Given the description of an element on the screen output the (x, y) to click on. 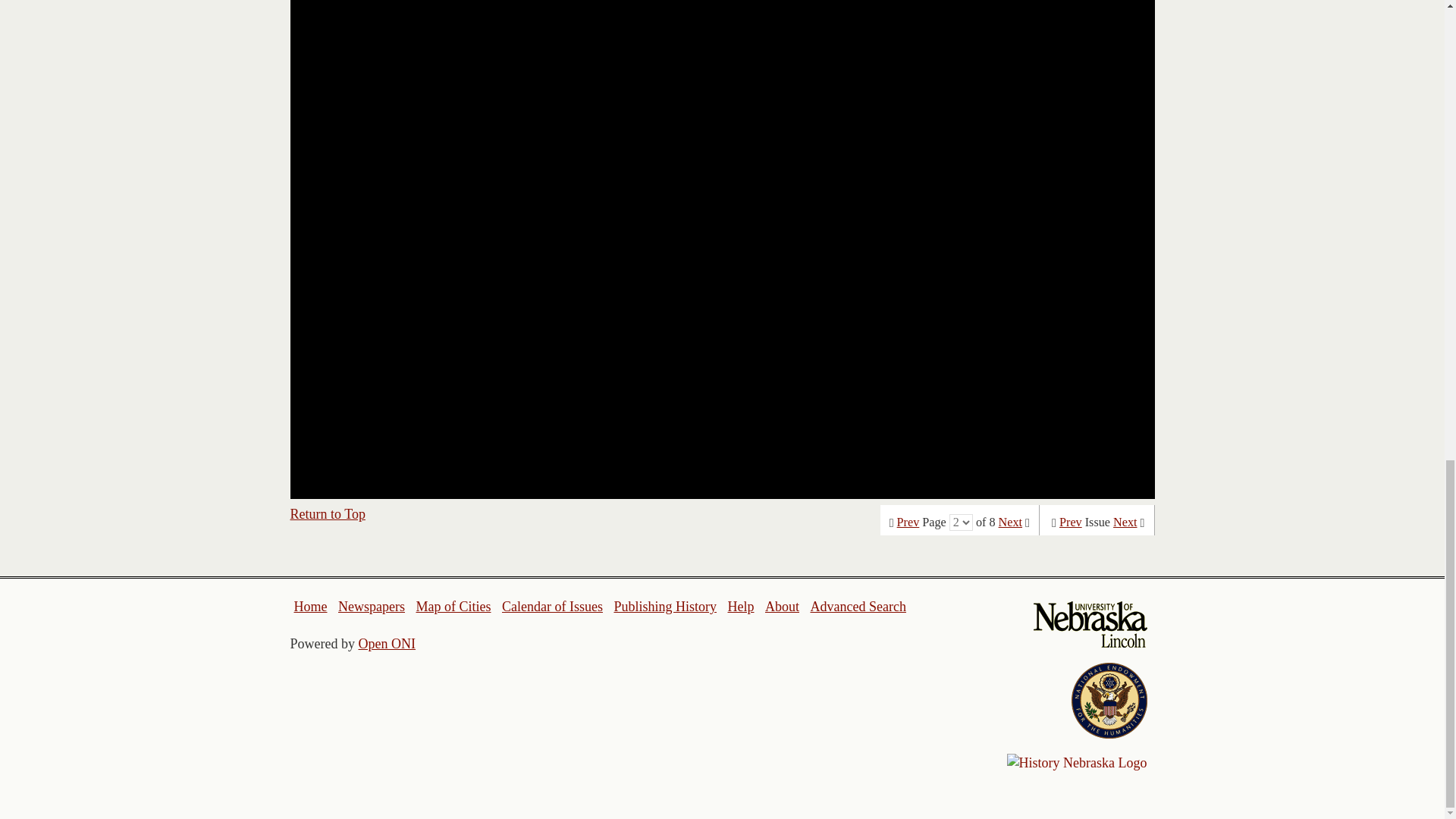
Next (1010, 522)
About (782, 606)
Prev (908, 522)
Open ONI (386, 643)
Map of Cities (452, 606)
Advanced Search (857, 606)
Calendar of Issues (552, 606)
Publishing History (664, 606)
Prev (1070, 522)
Help (740, 606)
Newspapers (370, 606)
Home (310, 606)
Return to Top (327, 513)
Next (1125, 522)
